Given the description of an element on the screen output the (x, y) to click on. 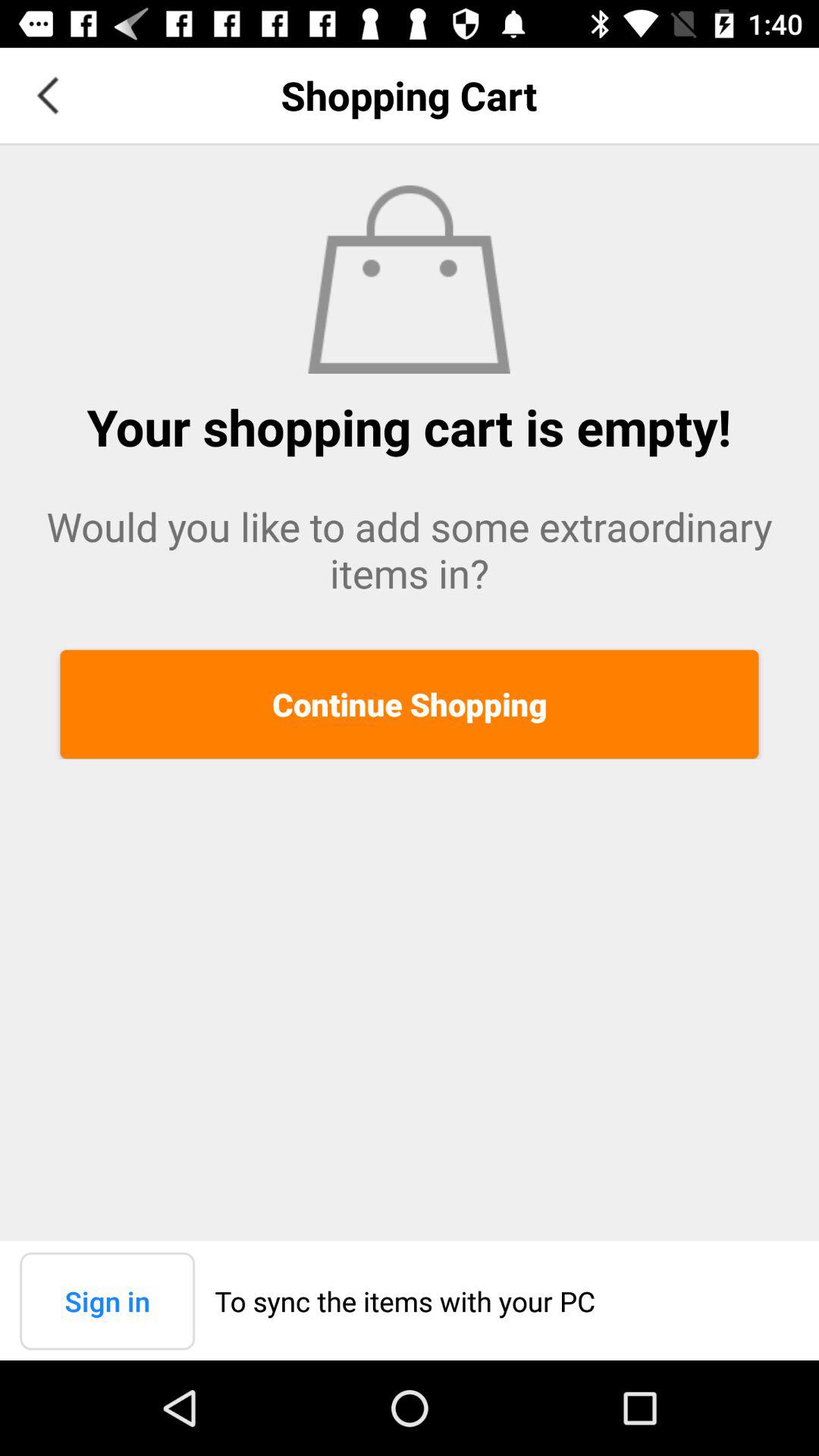
click the sign in at the bottom left corner (107, 1301)
